Given the description of an element on the screen output the (x, y) to click on. 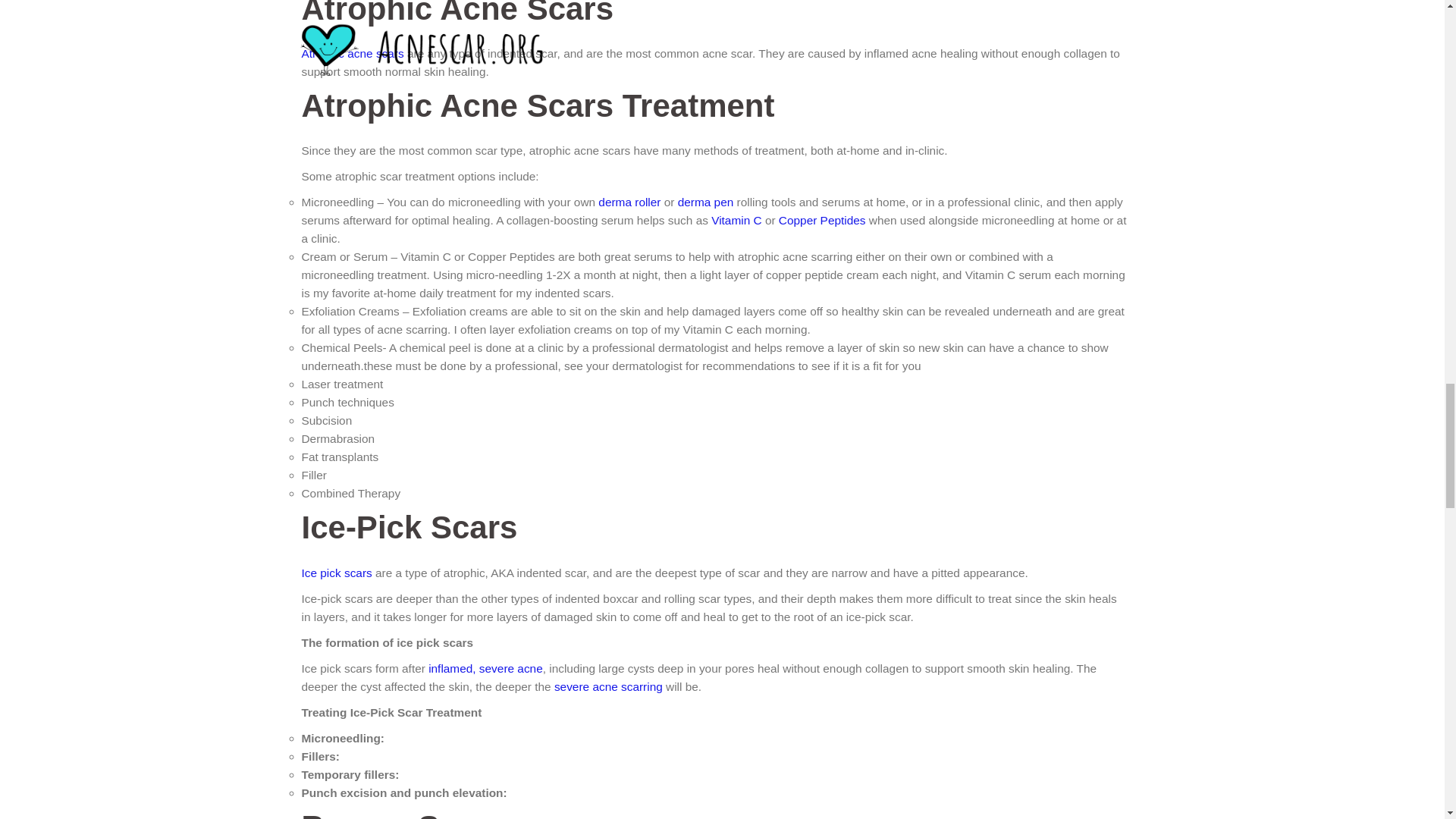
Ice pick scars (336, 571)
derma pen (705, 201)
derma roller (629, 201)
Copper Peptides (822, 219)
Vitamin C (736, 219)
inflamed, severe acne (485, 667)
Atrophic acne scars (352, 52)
severe acne scarring (608, 685)
